Given the description of an element on the screen output the (x, y) to click on. 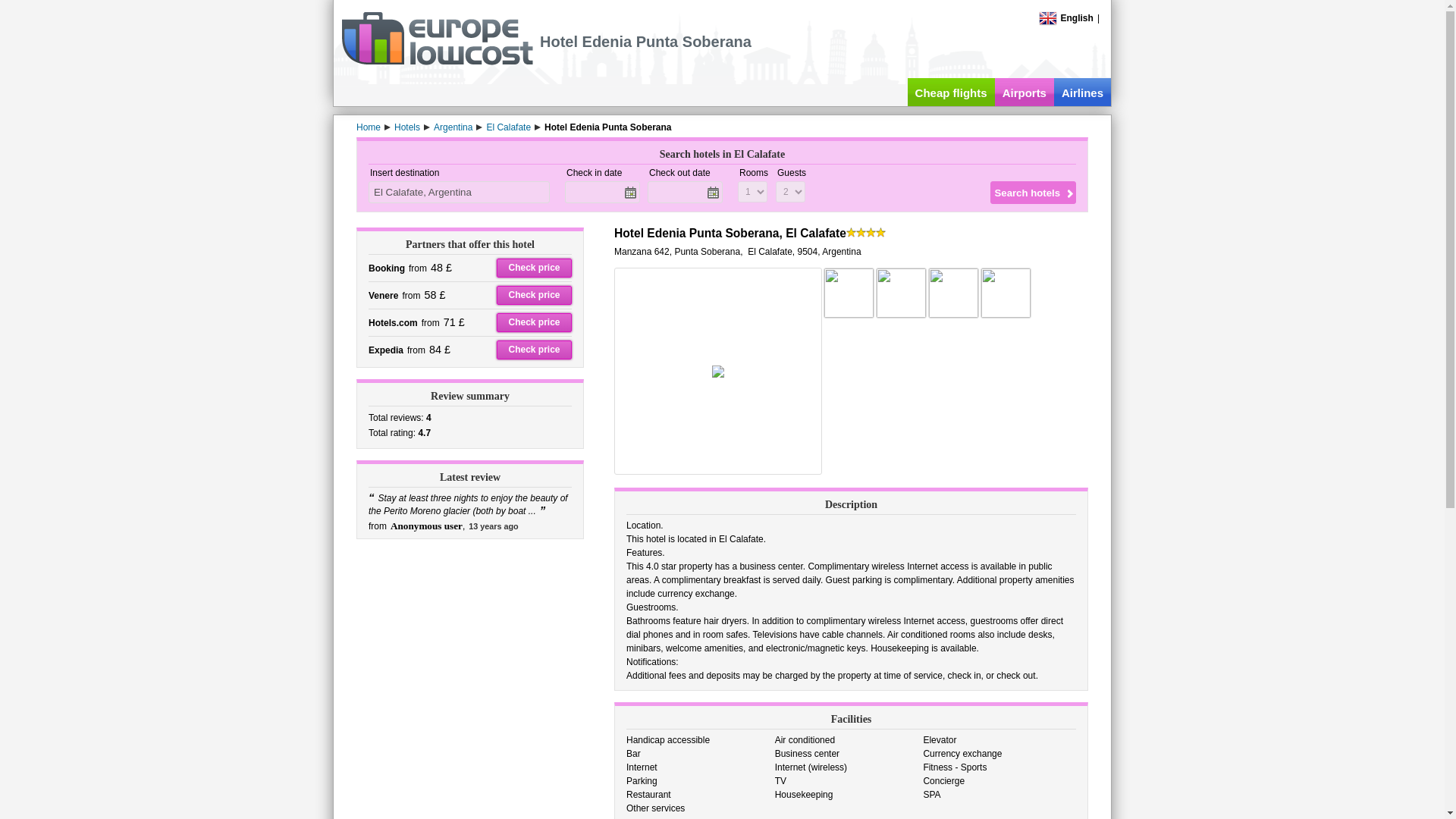
Home (368, 127)
Search hotels (1033, 191)
Europelowcost.co.uk (436, 61)
Check price (534, 267)
El Calafate (508, 127)
Search hotels (1033, 191)
Argentina (452, 127)
El Calafate (508, 127)
Check price (534, 349)
Cheap flights (950, 91)
